Given the description of an element on the screen output the (x, y) to click on. 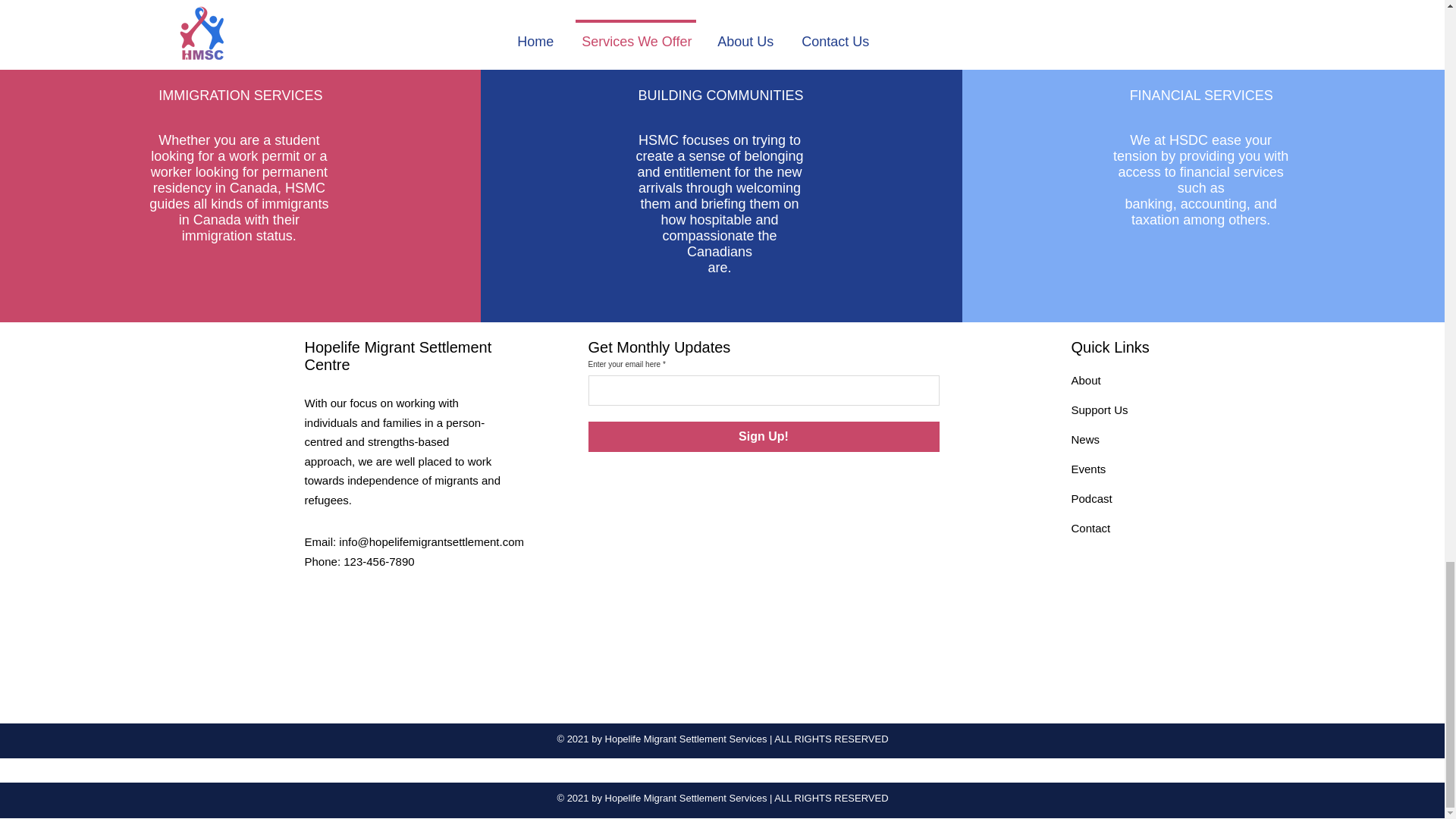
About (1085, 379)
Sign Up! (763, 436)
Podcast (1091, 498)
Events (1087, 468)
Support Us (1098, 409)
Contact (1089, 527)
News (1084, 439)
